Given the description of an element on the screen output the (x, y) to click on. 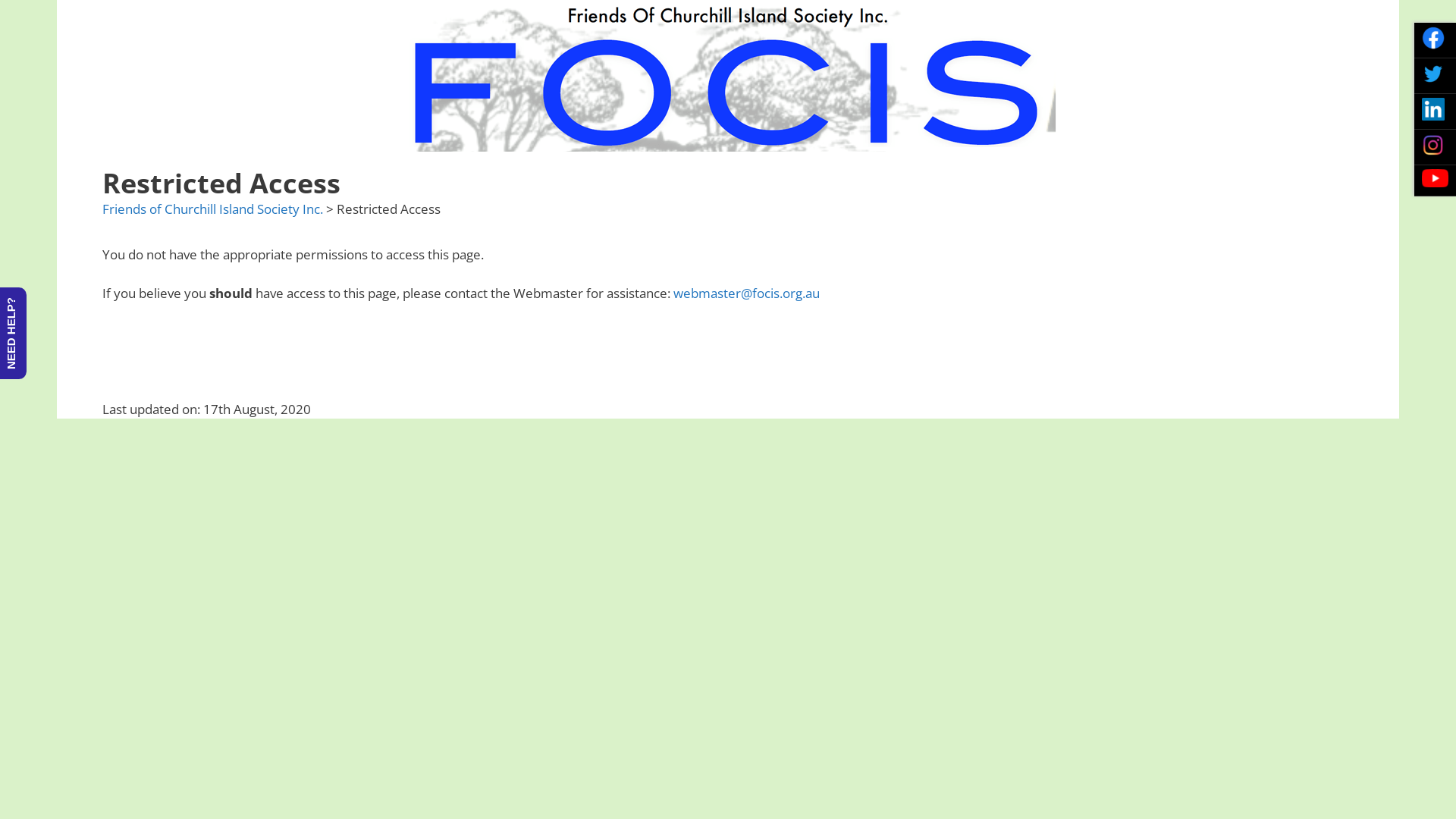
Facebook Element type: hover (1432, 37)
LinkedIn Element type: hover (1432, 108)
Instragram Element type: hover (1432, 144)
Friends of Churchill Island Society Inc. Element type: text (212, 208)
webmaster@focis.org.au Element type: text (746, 292)
YouTube Element type: hover (1434, 178)
Twitter Element type: hover (1432, 73)
